Given the description of an element on the screen output the (x, y) to click on. 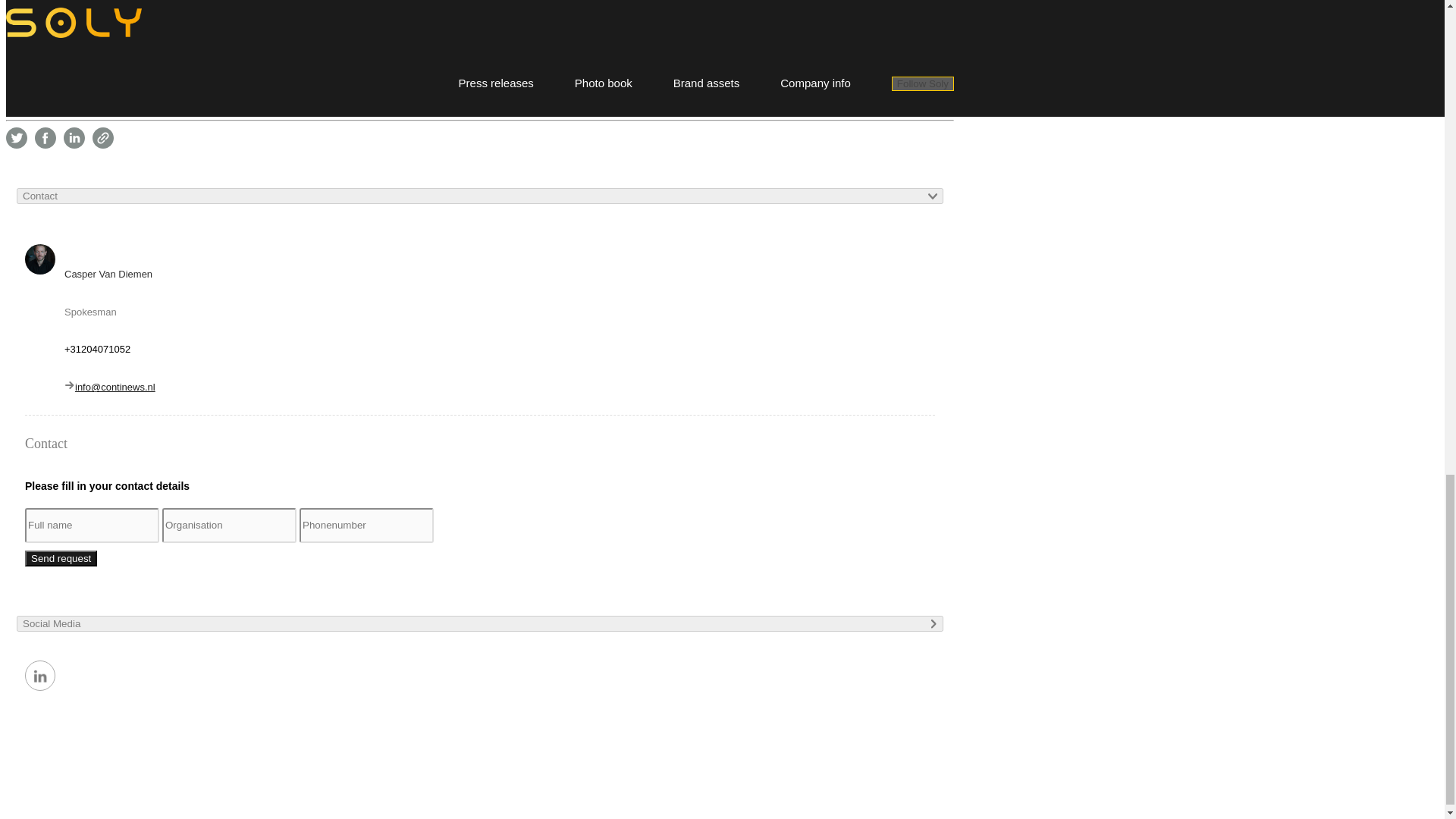
Send request (60, 558)
Share on Linkedin (74, 137)
Share on Facebook (45, 137)
Linkedin (39, 675)
Social Media (479, 623)
Share on Twitter (16, 137)
Click to copy URL (103, 137)
Contact (479, 195)
